Given the description of an element on the screen output the (x, y) to click on. 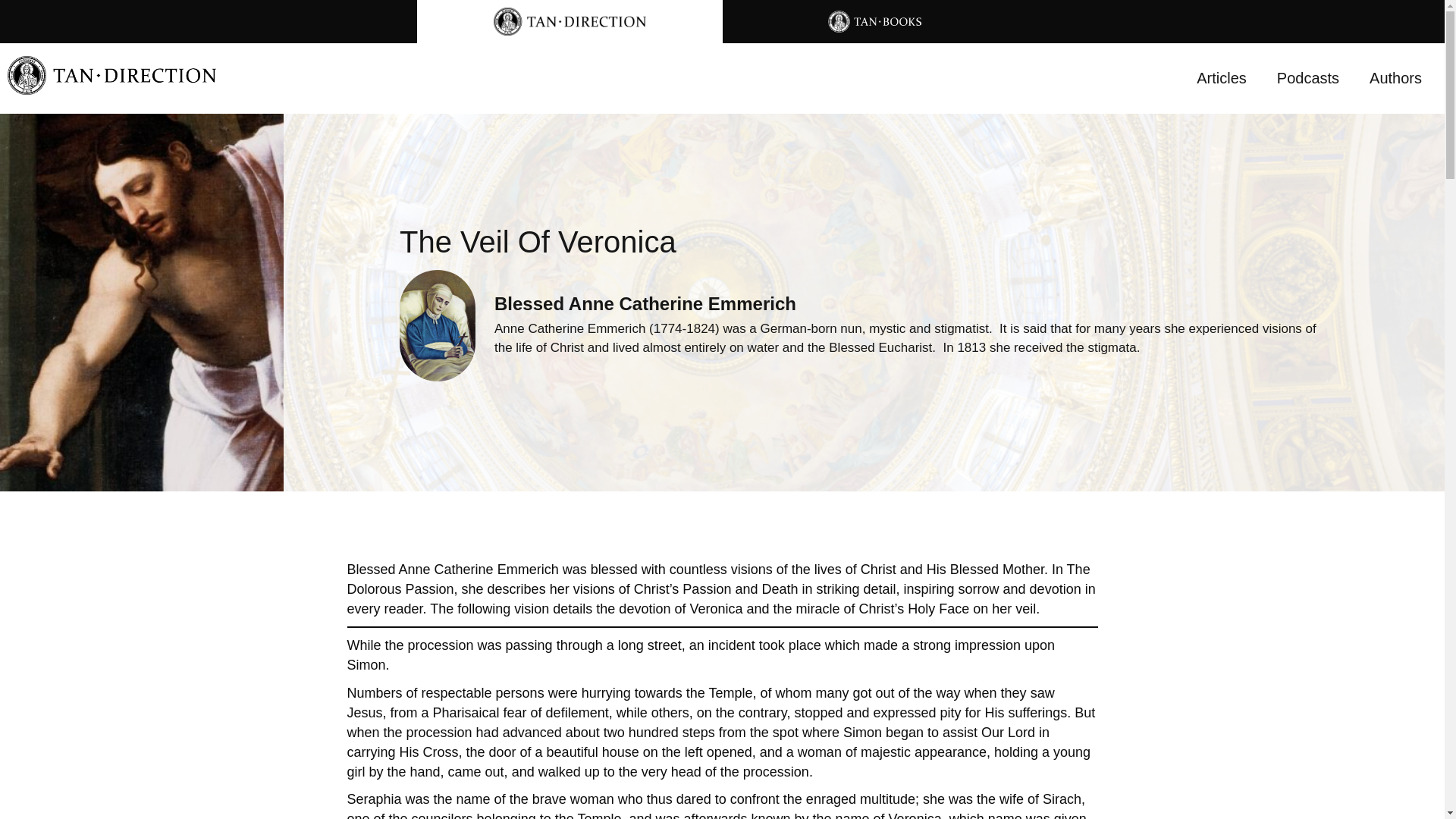
Podcasts (1308, 77)
Articles (1221, 77)
Authors (1395, 77)
